Given the description of an element on the screen output the (x, y) to click on. 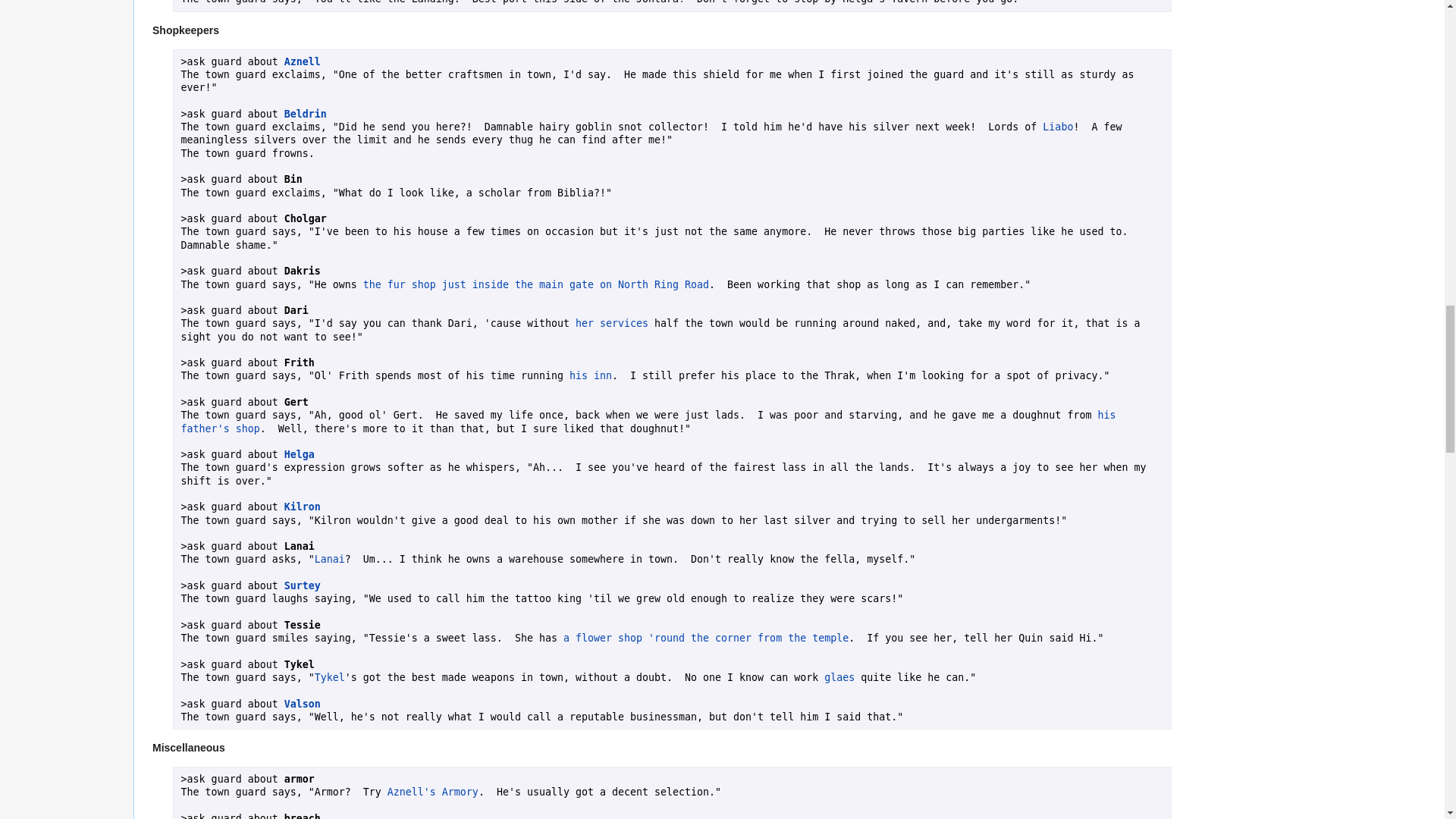
Aznell (301, 61)
Valson (301, 704)
Lanai (329, 559)
his inn (590, 375)
Kilron (301, 506)
Aznell's Armory (433, 791)
Liabo (1057, 126)
Surtey (301, 585)
glaes (839, 677)
Beldrin (304, 113)
